Given the description of an element on the screen output the (x, y) to click on. 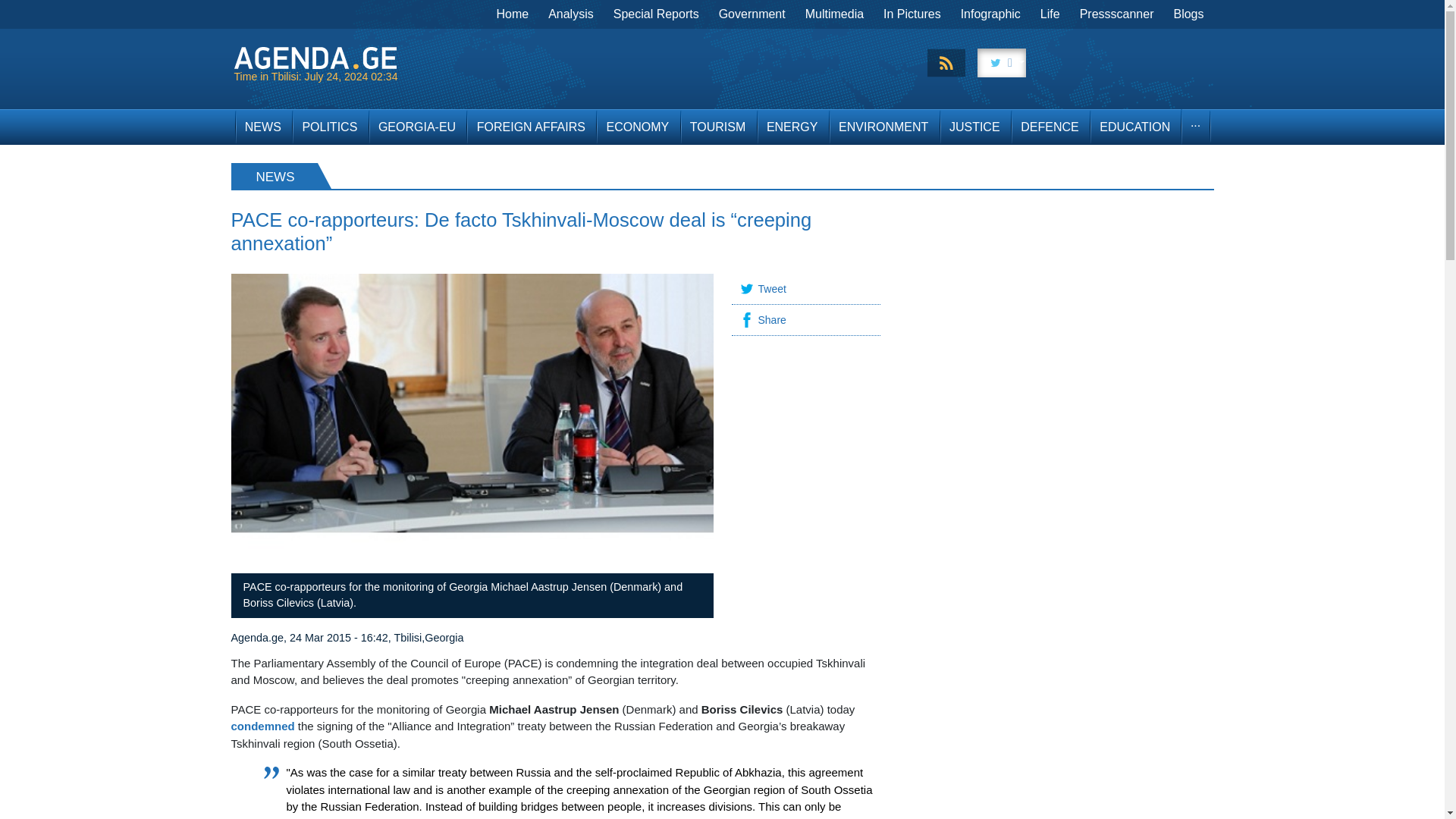
NEWS (262, 126)
Analysis (571, 14)
Government (751, 14)
Infographic (990, 14)
Pressscanner (1116, 14)
Blogs (1187, 14)
Special Reports (656, 14)
Life (1050, 14)
Home (512, 14)
Multimedia (833, 14)
In Pictures (911, 14)
